Given the description of an element on the screen output the (x, y) to click on. 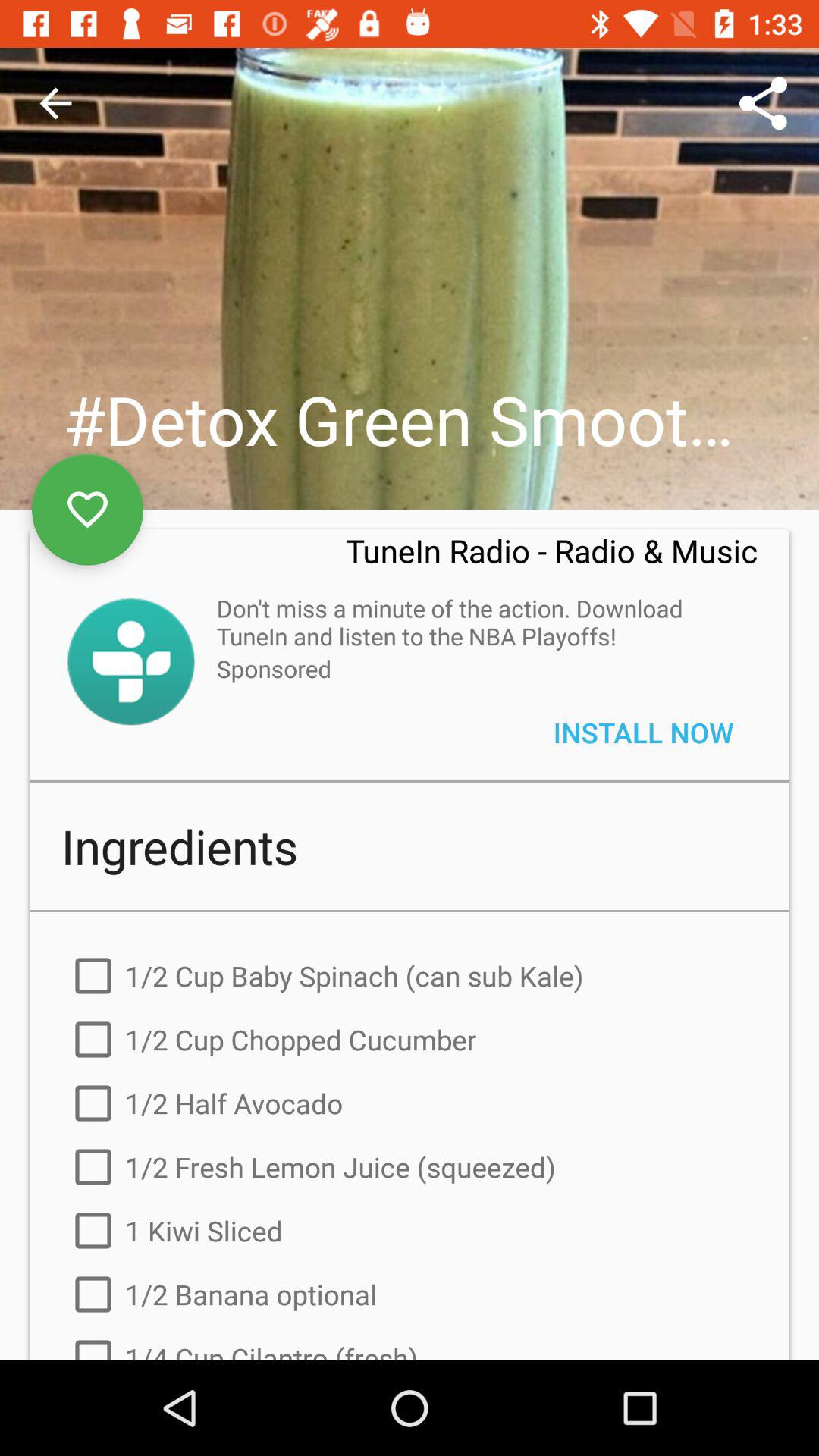
open the icon next to install now item (273, 668)
